Given the description of an element on the screen output the (x, y) to click on. 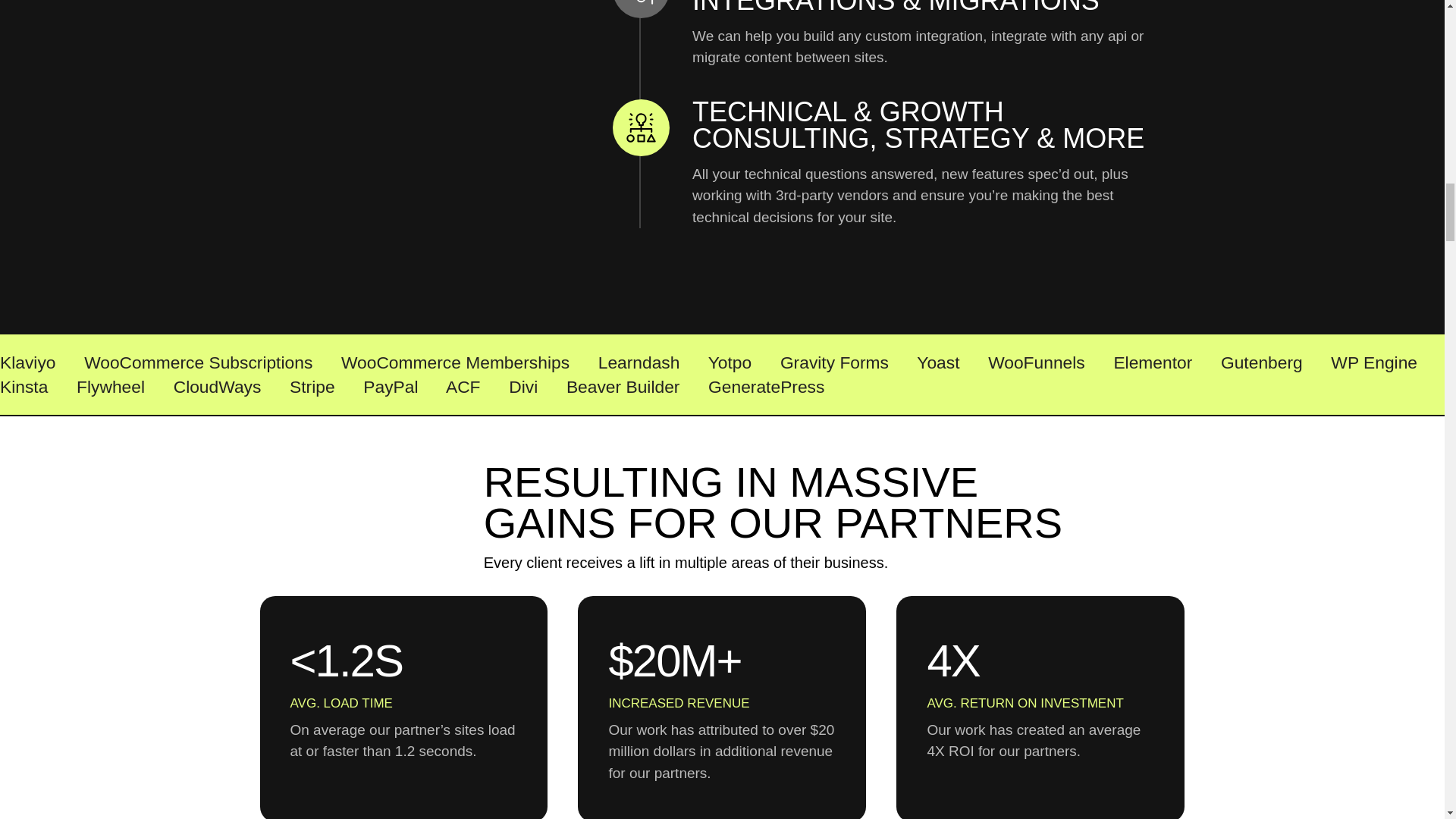
Projections-Streamline-London (397, 510)
